Given the description of an element on the screen output the (x, y) to click on. 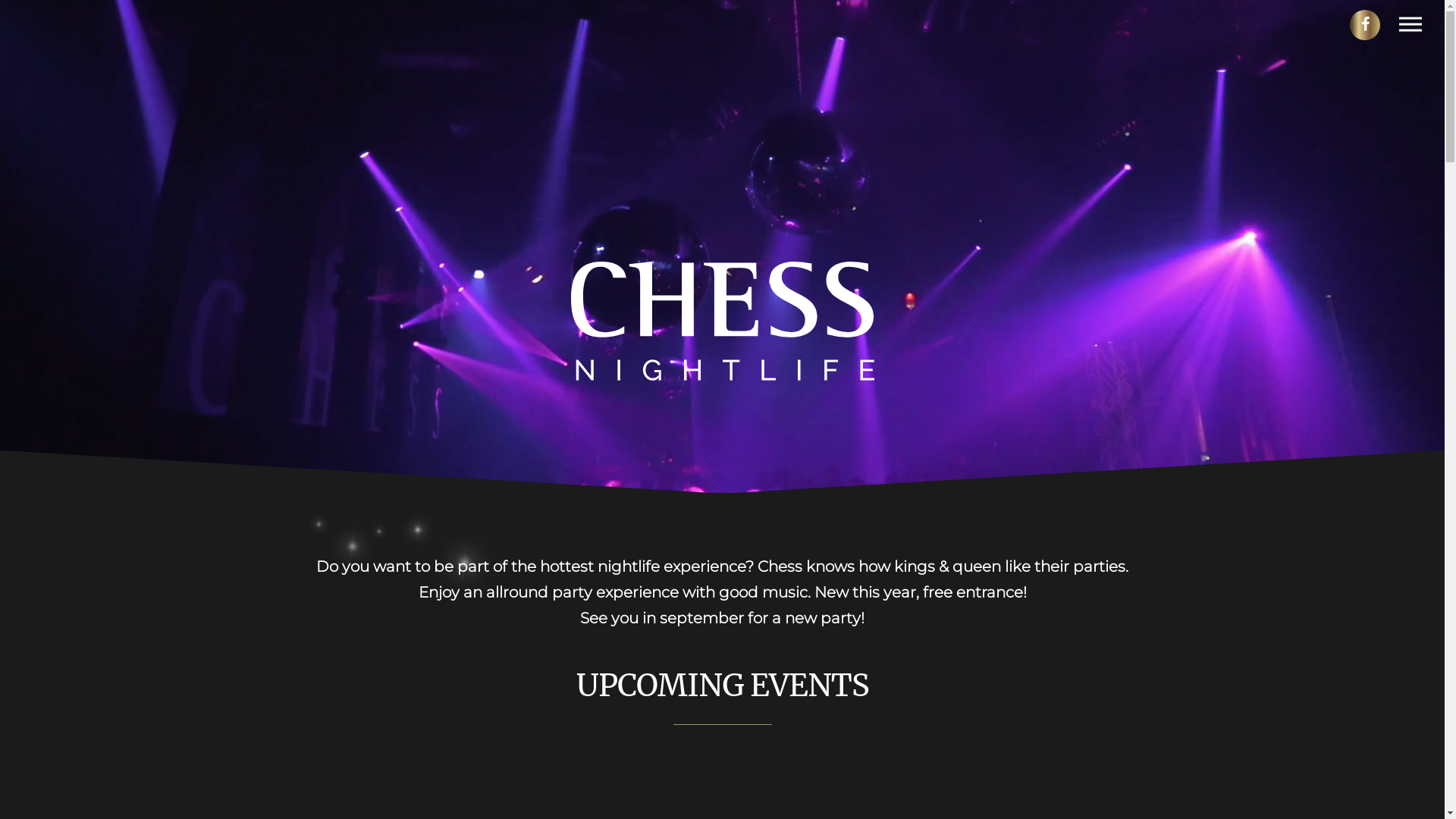
facebook Element type: hover (1364, 24)
